Given the description of an element on the screen output the (x, y) to click on. 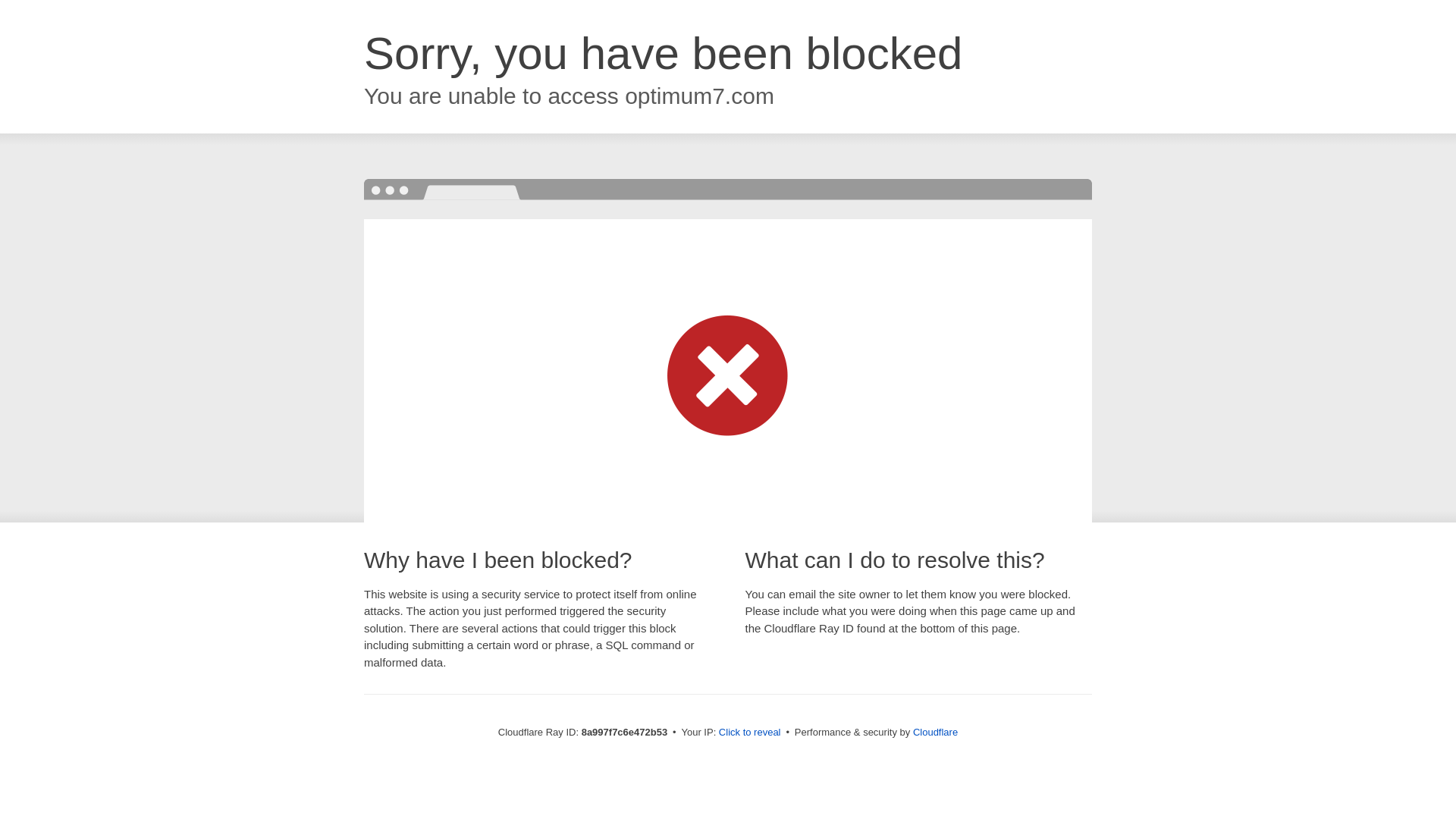
Click to reveal (749, 732)
Cloudflare (935, 731)
